Given the description of an element on the screen output the (x, y) to click on. 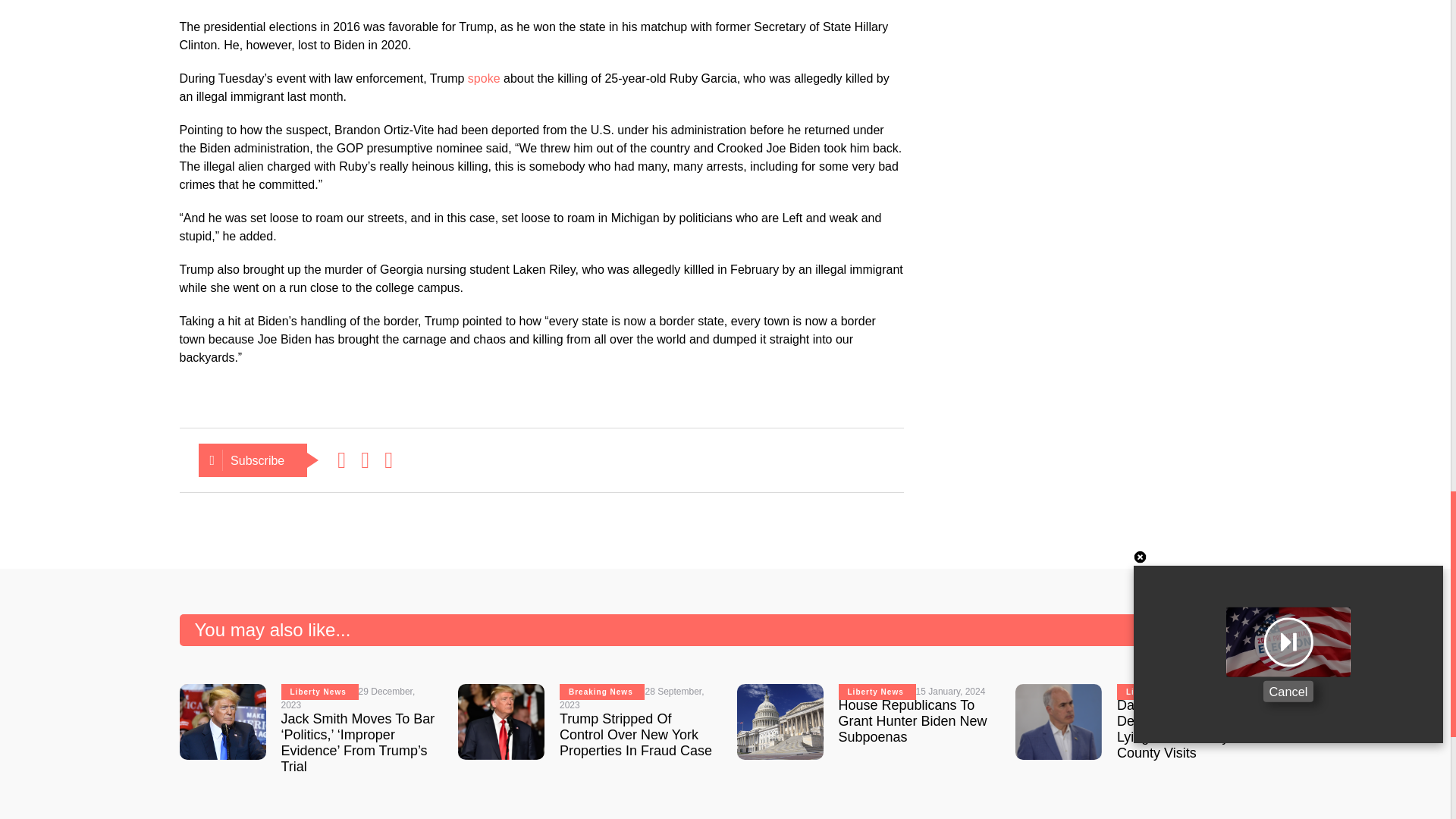
Subscribe (252, 459)
spoke (483, 78)
